Given the description of an element on the screen output the (x, y) to click on. 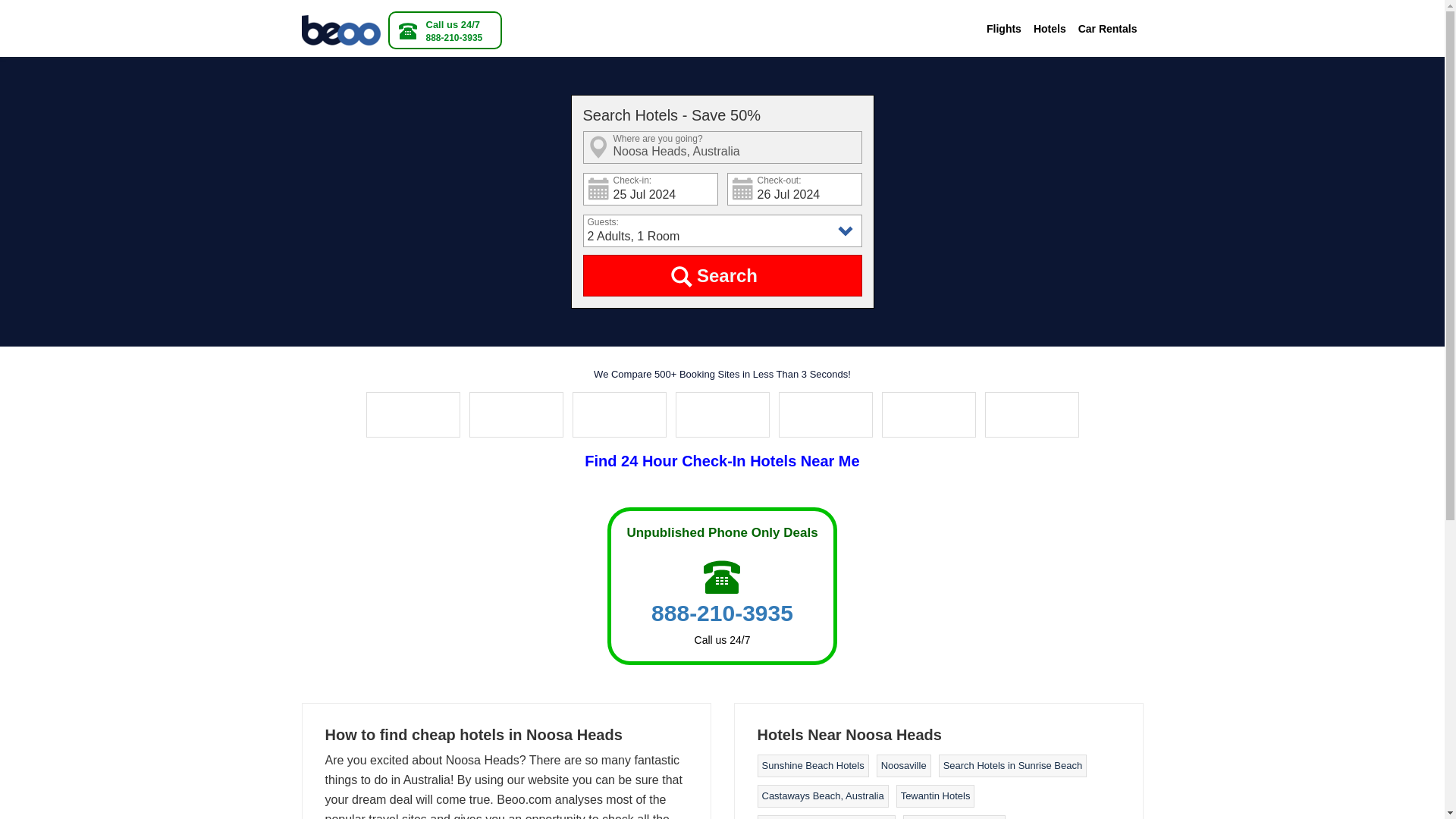
Find 24 Hour Check-In Hotels Near Me (722, 460)
Castaways Beach, Australia (822, 795)
Flights (1003, 28)
Noosa Heads, Australia (721, 147)
Car Rentals (1106, 28)
Tewantin Hotels (936, 795)
Search (721, 275)
Sunshine Beach Hotels (812, 765)
Noosaville (903, 765)
Search Hotels in Sunrise Beach (1013, 765)
Hotels (1049, 28)
